Given the description of an element on the screen output the (x, y) to click on. 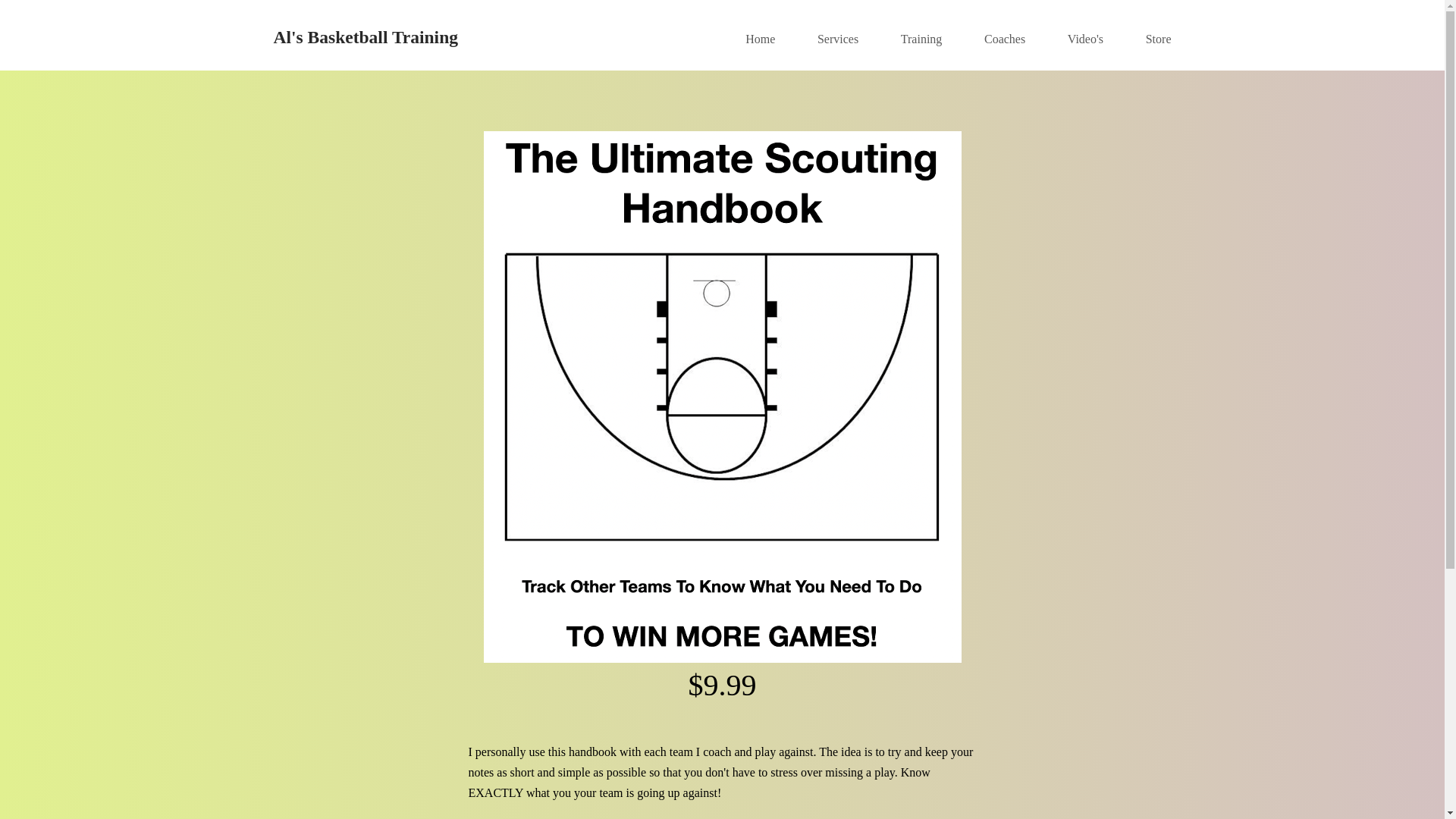
Training Element type: text (921, 38)
Services Element type: text (837, 38)
Store Element type: text (1158, 38)
Video's Element type: text (1085, 38)
Al's Basketball Training Element type: text (365, 37)
Coaches Element type: text (1004, 38)
Home Element type: text (760, 38)
